Given the description of an element on the screen output the (x, y) to click on. 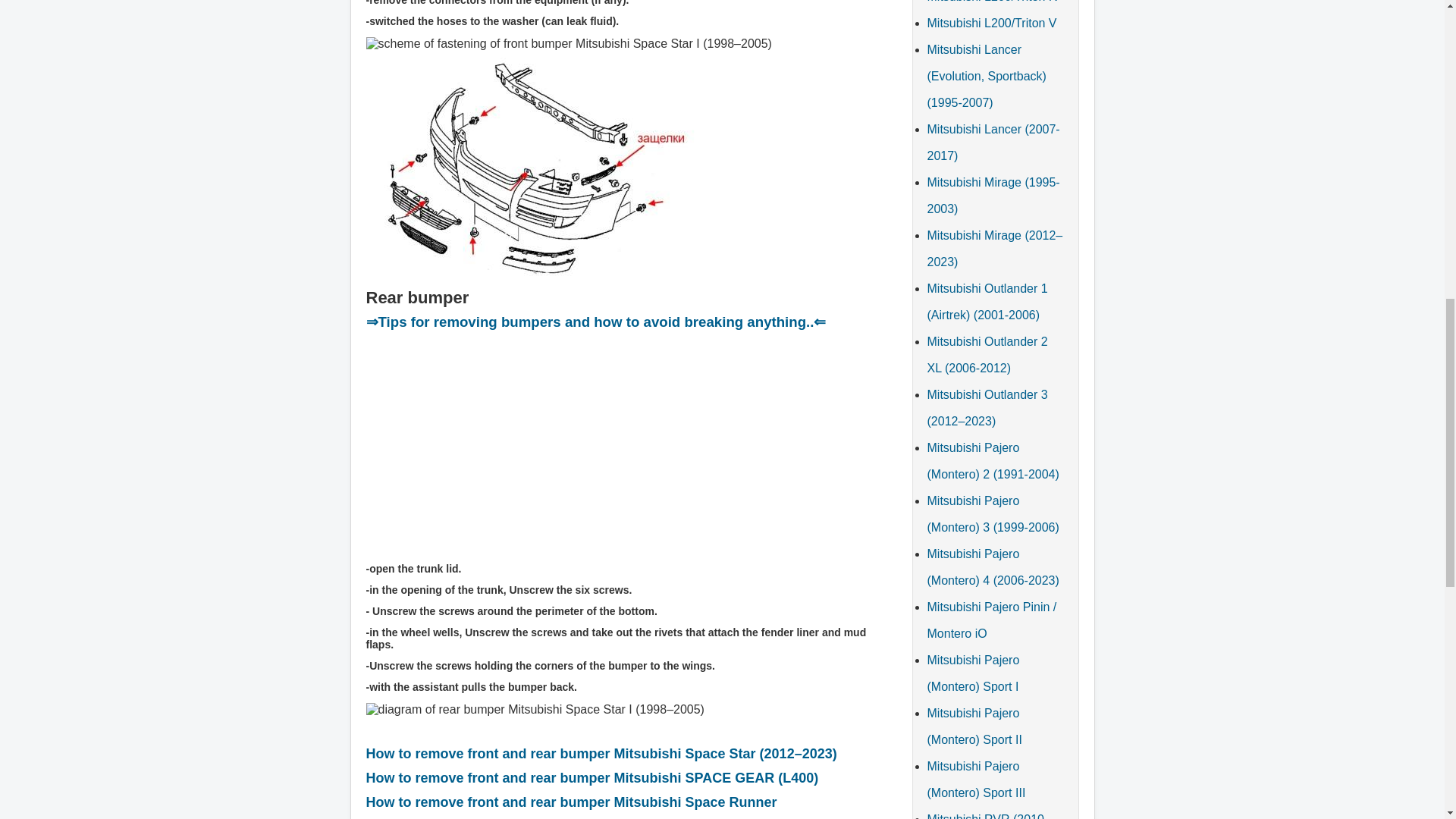
How to remove front and rear bumper Mitsubishi Space Runner (570, 801)
